Given the description of an element on the screen output the (x, y) to click on. 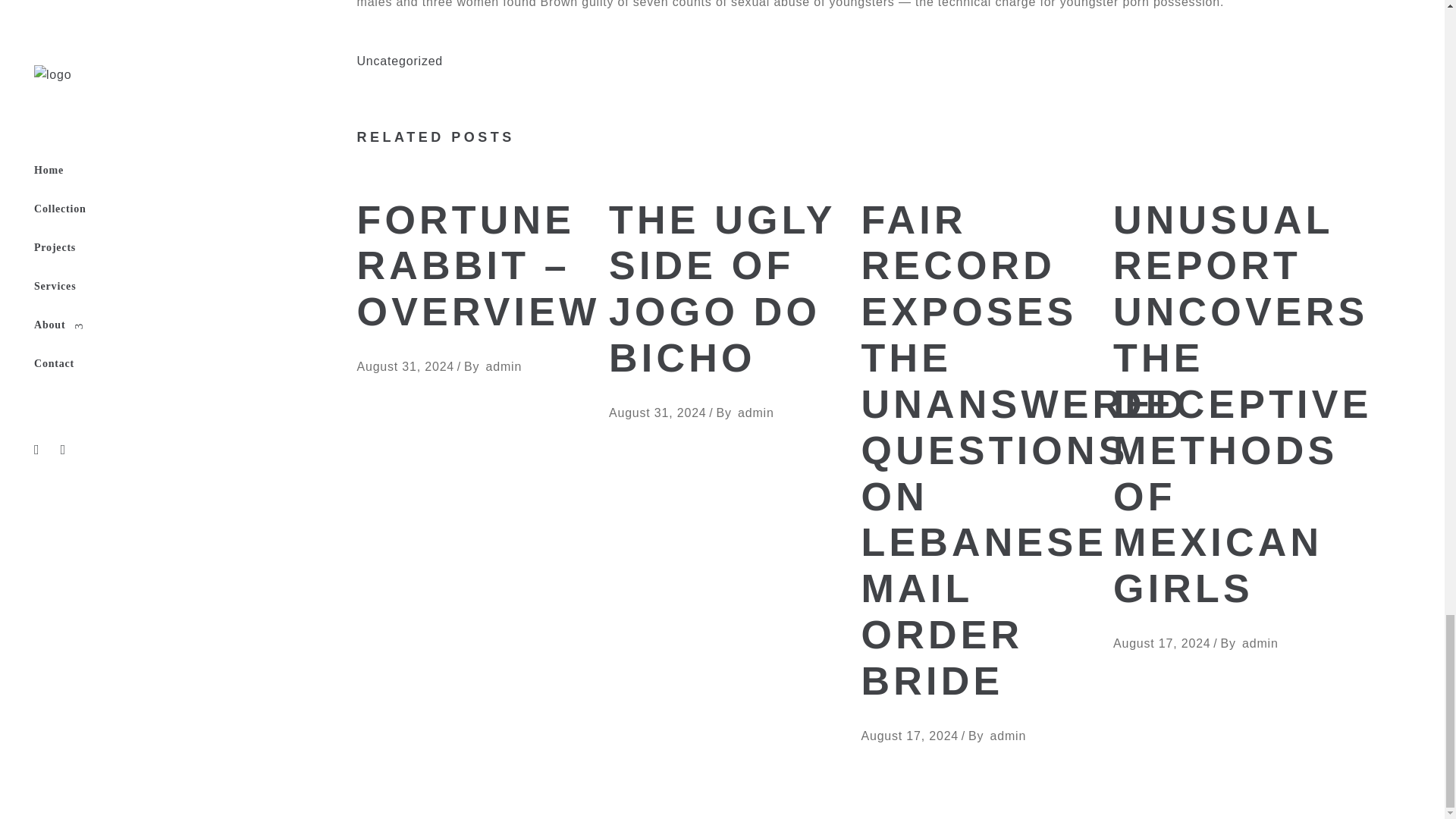
The Ugly Side of Jogo Do Bicho (723, 289)
August 31, 2024 (405, 366)
THE UGLY SIDE OF JOGO DO BICHO (723, 289)
Uncategorized (399, 60)
August 17, 2024 (910, 735)
admin (756, 412)
admin (504, 366)
August 31, 2024 (657, 412)
